Given the description of an element on the screen output the (x, y) to click on. 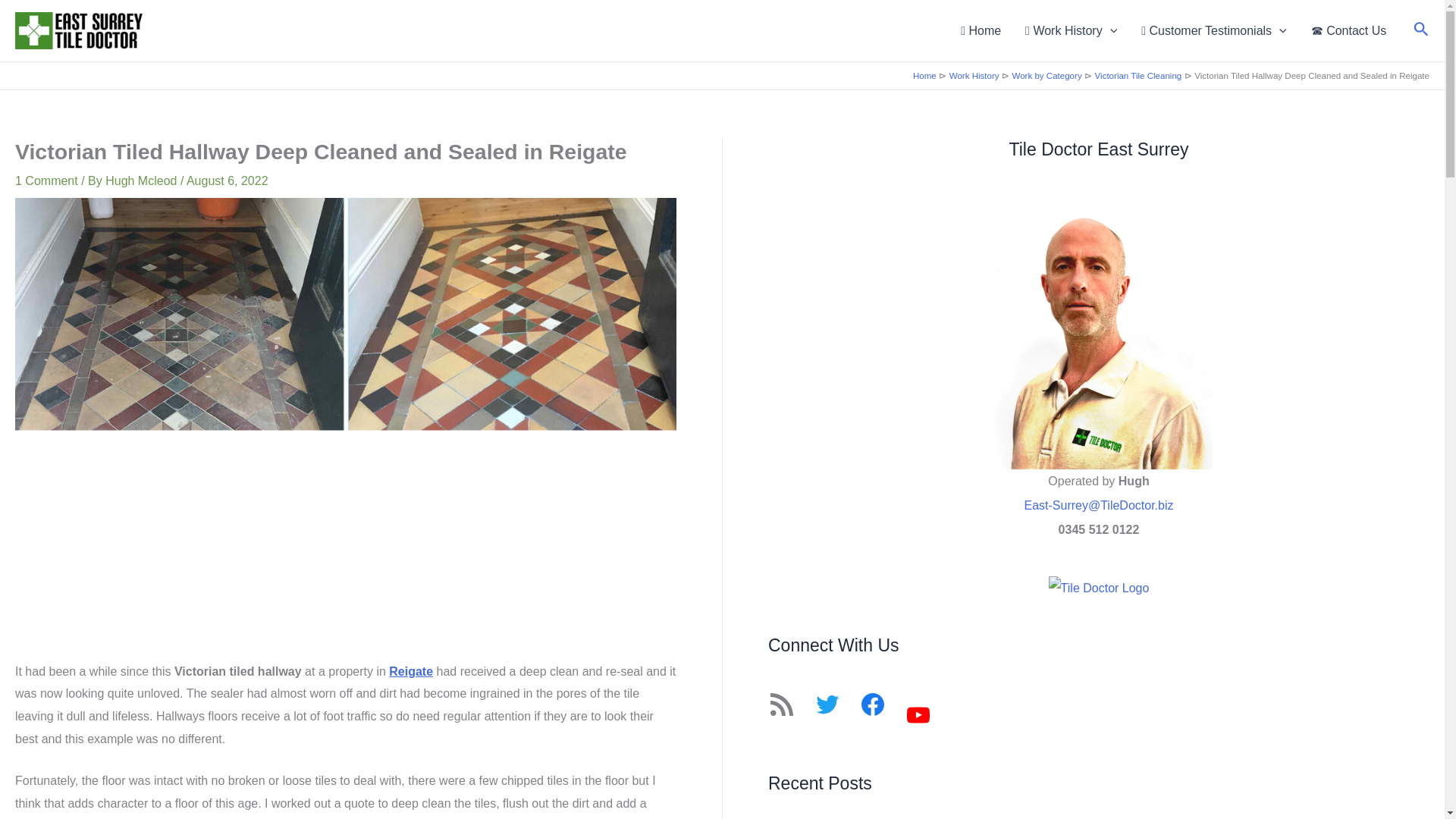
View all posts by Hugh Mcleod (142, 180)
